Given the description of an element on the screen output the (x, y) to click on. 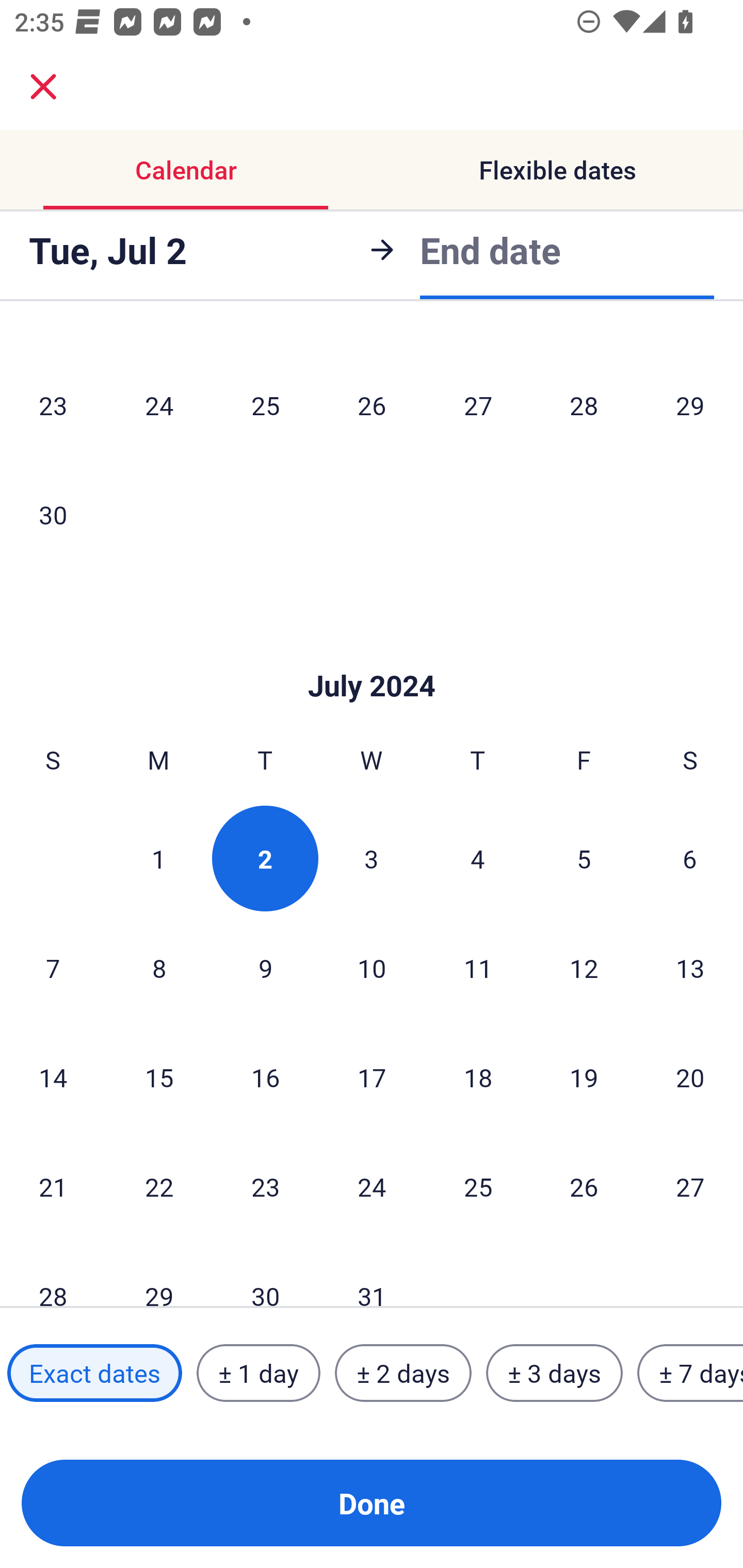
close. (43, 86)
Flexible dates (557, 170)
End date (489, 246)
23 Sunday, June 23, 2024 (53, 404)
24 Monday, June 24, 2024 (159, 404)
25 Tuesday, June 25, 2024 (265, 404)
26 Wednesday, June 26, 2024 (371, 404)
27 Thursday, June 27, 2024 (477, 404)
28 Friday, June 28, 2024 (584, 404)
29 Saturday, June 29, 2024 (690, 404)
30 Sunday, June 30, 2024 (53, 513)
Skip to Done (371, 654)
1 Monday, July 1, 2024 (158, 858)
3 Wednesday, July 3, 2024 (371, 858)
4 Thursday, July 4, 2024 (477, 858)
5 Friday, July 5, 2024 (583, 858)
6 Saturday, July 6, 2024 (689, 858)
7 Sunday, July 7, 2024 (53, 967)
8 Monday, July 8, 2024 (159, 967)
9 Tuesday, July 9, 2024 (265, 967)
10 Wednesday, July 10, 2024 (371, 967)
11 Thursday, July 11, 2024 (477, 967)
12 Friday, July 12, 2024 (584, 967)
13 Saturday, July 13, 2024 (690, 967)
14 Sunday, July 14, 2024 (53, 1076)
15 Monday, July 15, 2024 (159, 1076)
16 Tuesday, July 16, 2024 (265, 1076)
17 Wednesday, July 17, 2024 (371, 1076)
18 Thursday, July 18, 2024 (477, 1076)
19 Friday, July 19, 2024 (584, 1076)
20 Saturday, July 20, 2024 (690, 1076)
21 Sunday, July 21, 2024 (53, 1185)
22 Monday, July 22, 2024 (159, 1185)
23 Tuesday, July 23, 2024 (265, 1185)
24 Wednesday, July 24, 2024 (371, 1185)
25 Thursday, July 25, 2024 (477, 1185)
26 Friday, July 26, 2024 (584, 1185)
27 Saturday, July 27, 2024 (690, 1185)
28 Sunday, July 28, 2024 (53, 1274)
29 Monday, July 29, 2024 (159, 1274)
30 Tuesday, July 30, 2024 (265, 1274)
31 Wednesday, July 31, 2024 (371, 1274)
Exact dates (94, 1372)
± 1 day (258, 1372)
± 2 days (403, 1372)
± 3 days (553, 1372)
± 7 days (690, 1372)
Done (371, 1502)
